Given the description of an element on the screen output the (x, y) to click on. 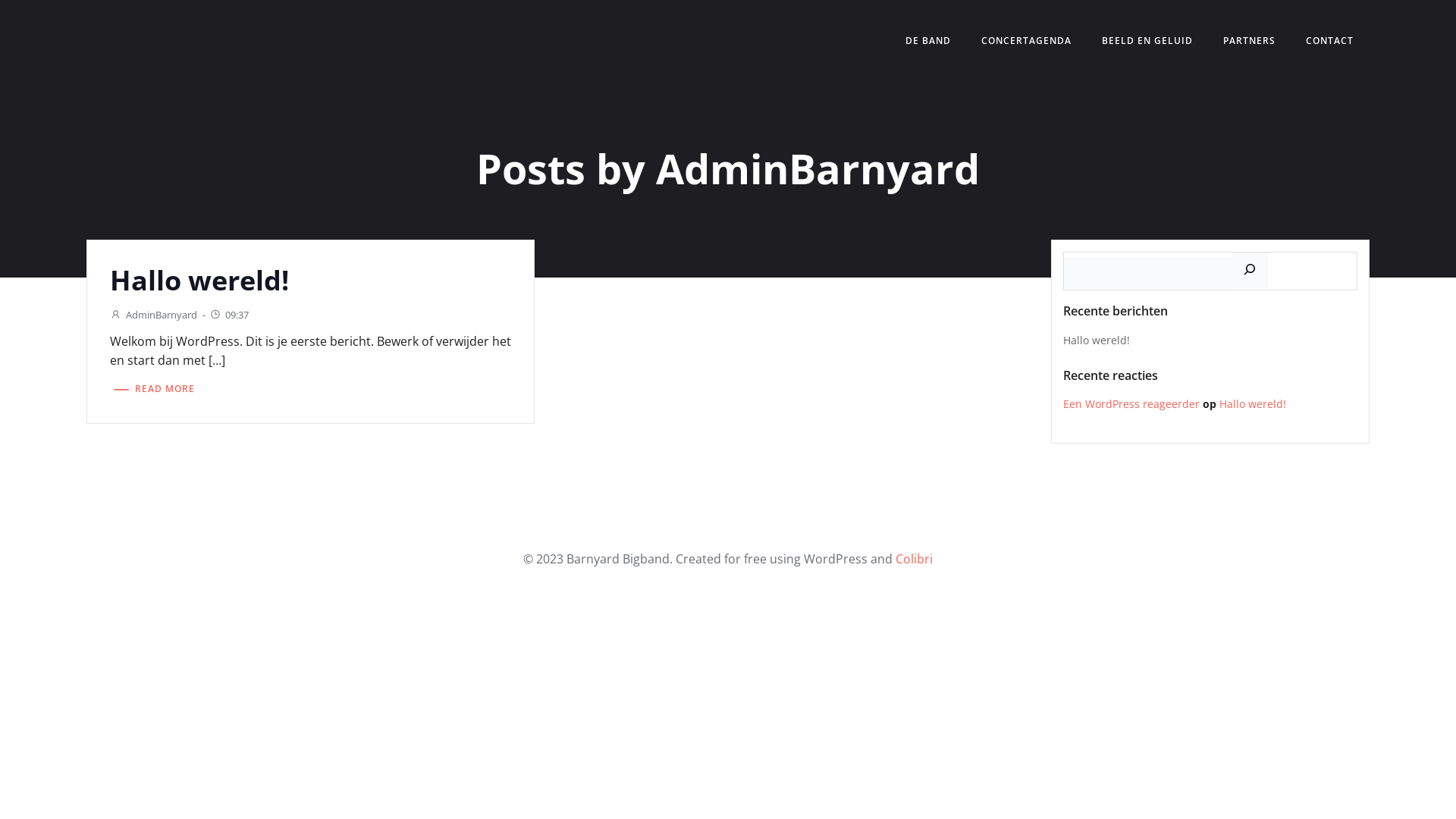
CONTACT Element type: text (1329, 40)
Hallo wereld! Element type: text (1252, 403)
Hallo wereld! Element type: text (310, 280)
CONCERTAGENDA Element type: text (1026, 40)
PARTNERS Element type: text (1249, 40)
DE BAND Element type: text (927, 40)
READ MORE Element type: text (151, 389)
09:37 Element type: text (228, 314)
Colibri Element type: text (913, 558)
BEELD EN GELUID Element type: text (1146, 40)
AdminBarnyard Element type: text (153, 314)
Een WordPress reageerder Element type: text (1131, 403)
Hallo wereld! Element type: text (1096, 339)
